Given the description of an element on the screen output the (x, y) to click on. 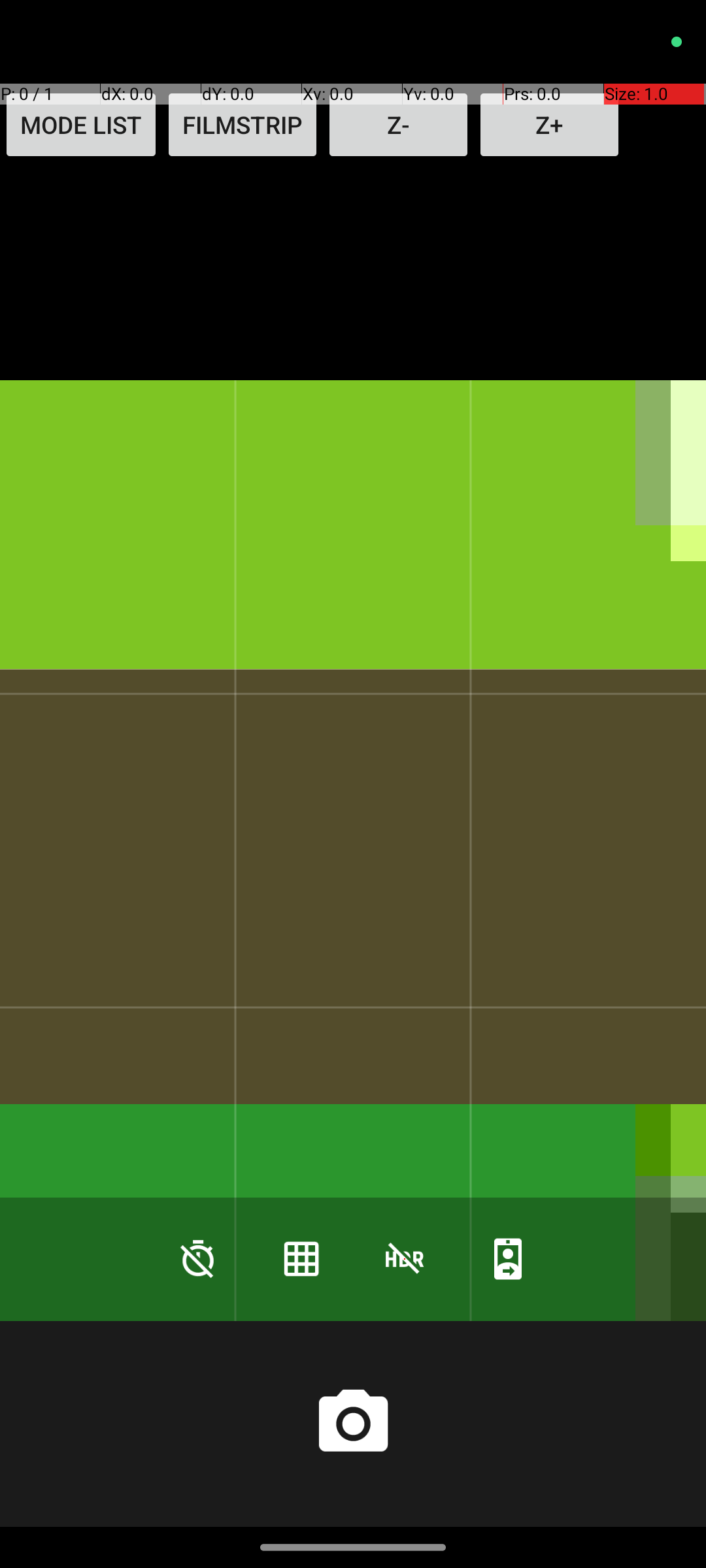
HDR off Element type: android.widget.ImageButton (404, 1258)
